Given the description of an element on the screen output the (x, y) to click on. 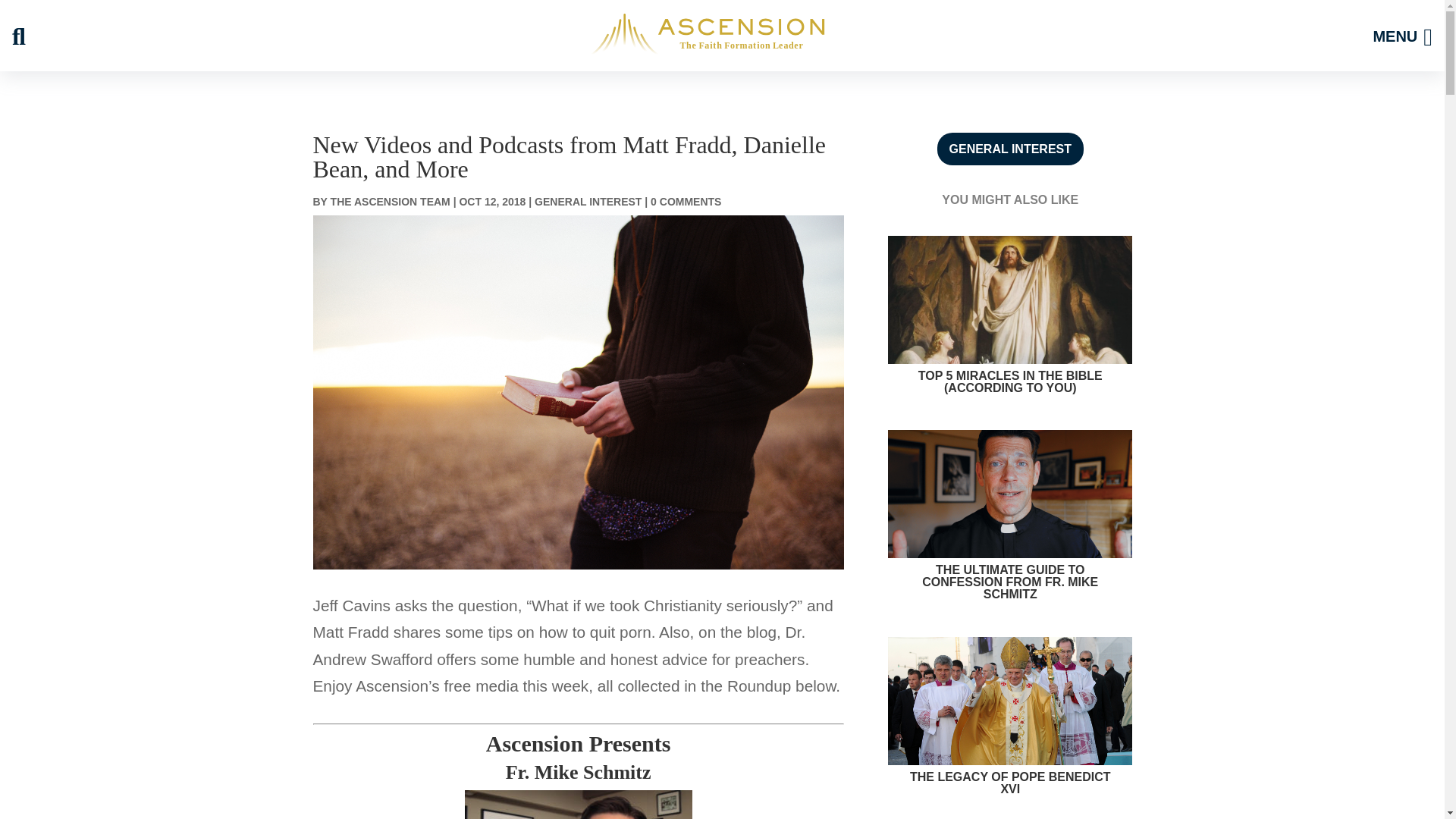
Posts by The Ascension Team (389, 201)
0 COMMENTS (685, 201)
THE ASCENSION TEAM (389, 201)
GENERAL INTEREST (588, 201)
